Given the description of an element on the screen output the (x, y) to click on. 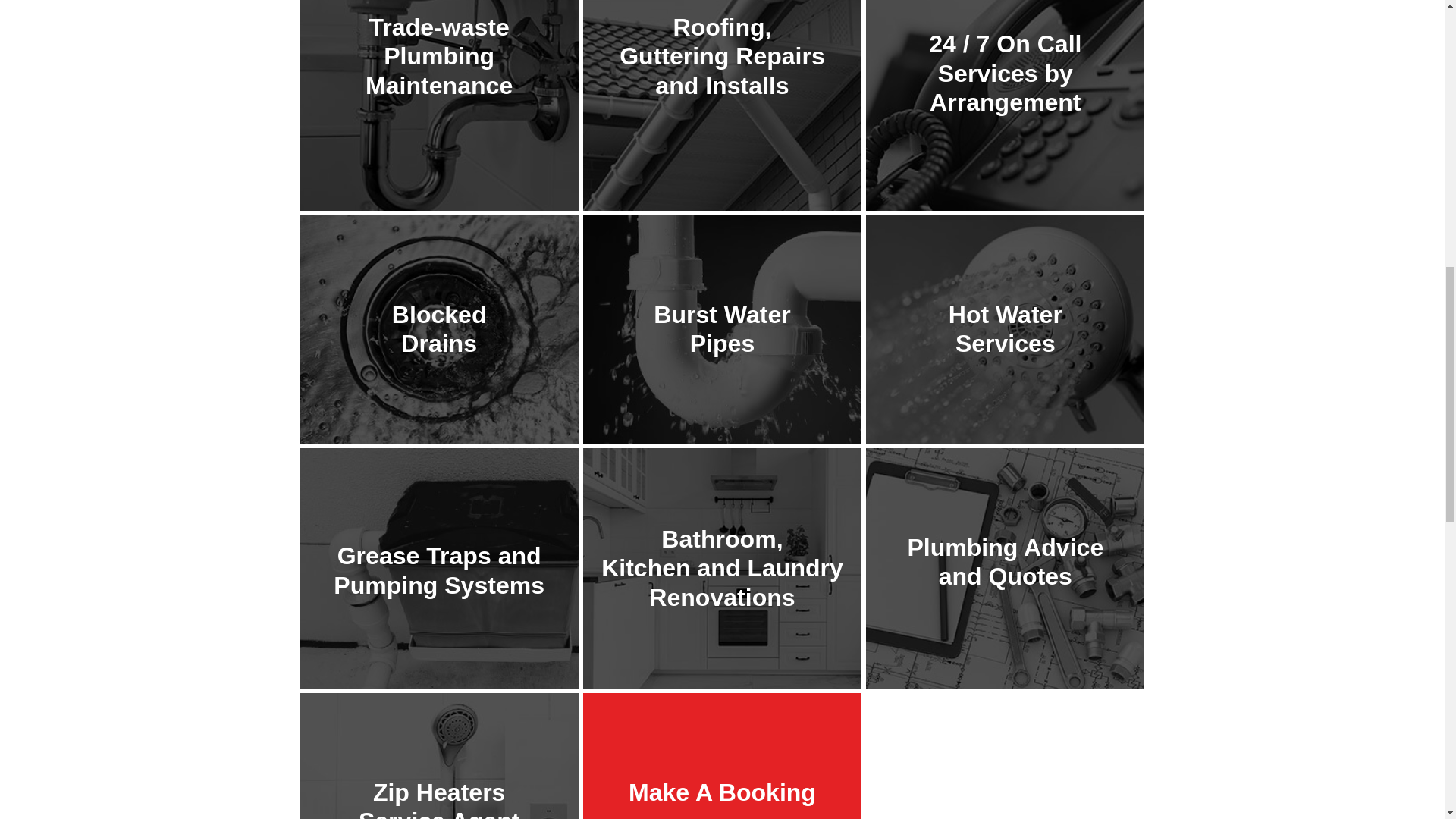
Make A Booking (721, 791)
